Given the description of an element on the screen output the (x, y) to click on. 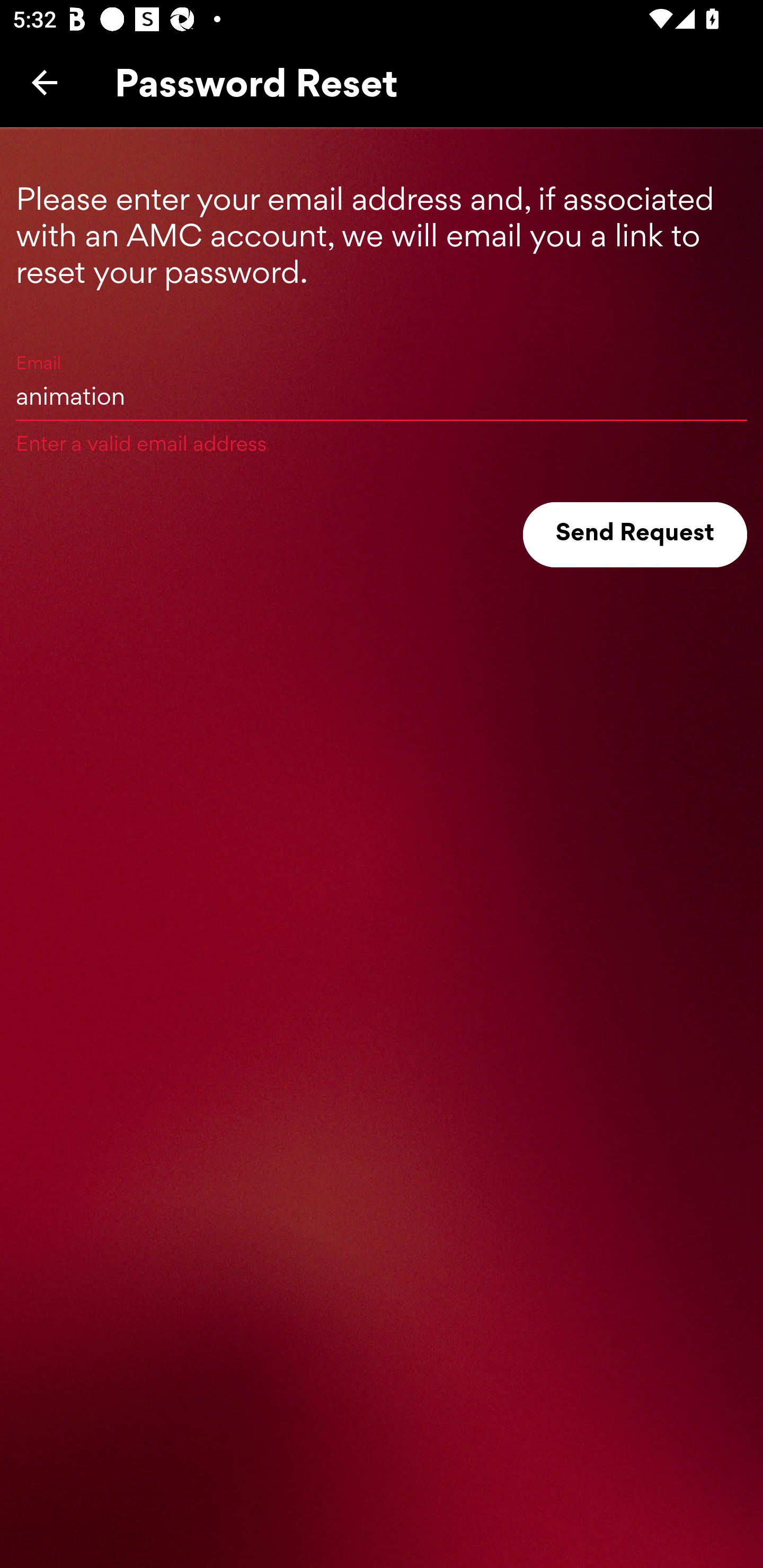
Back (44, 82)
animation Enter a valid email address (381, 394)
Send Request (634, 535)
